Given the description of an element on the screen output the (x, y) to click on. 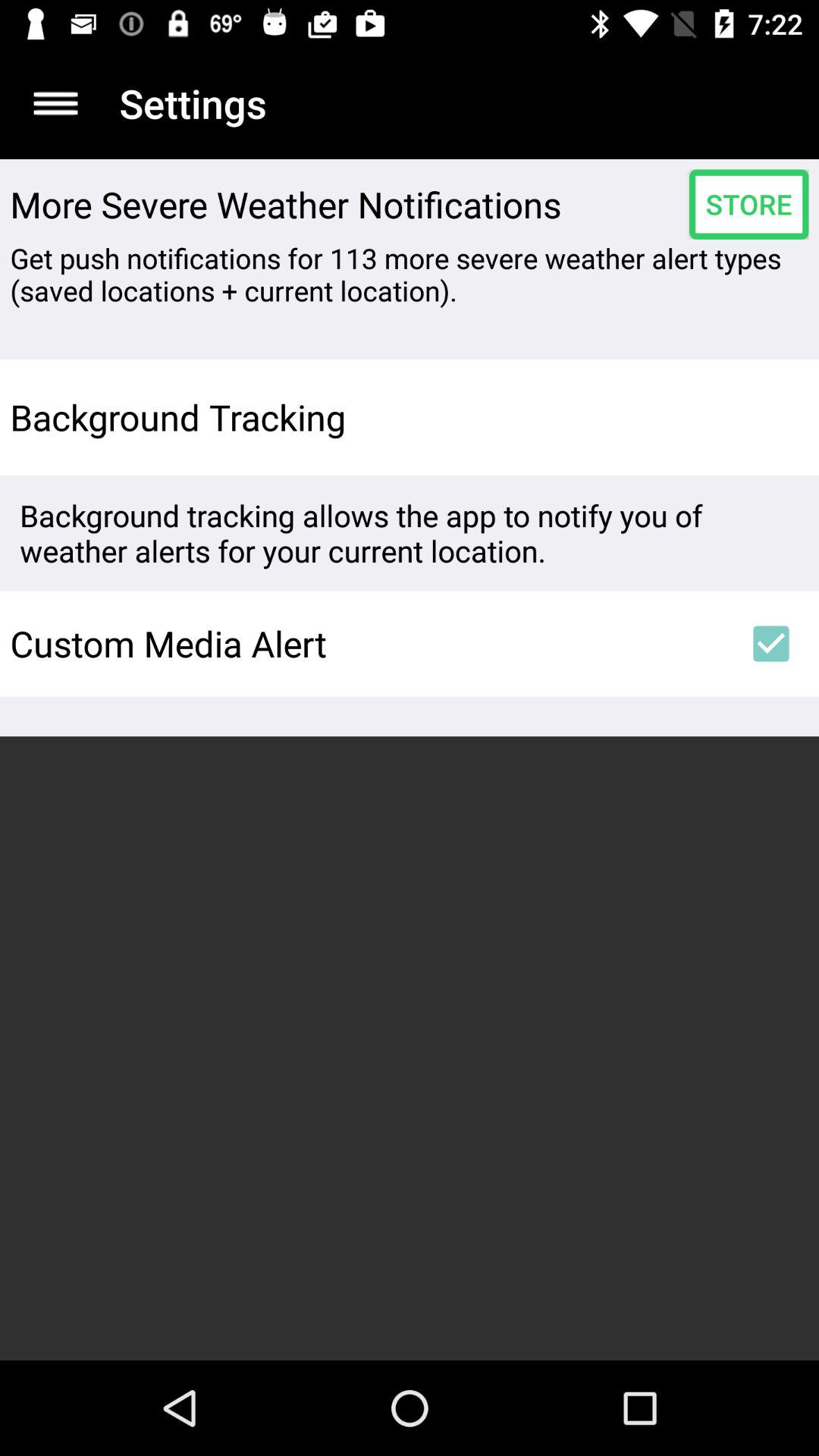
swipe until get push notifications item (409, 274)
